Given the description of an element on the screen output the (x, y) to click on. 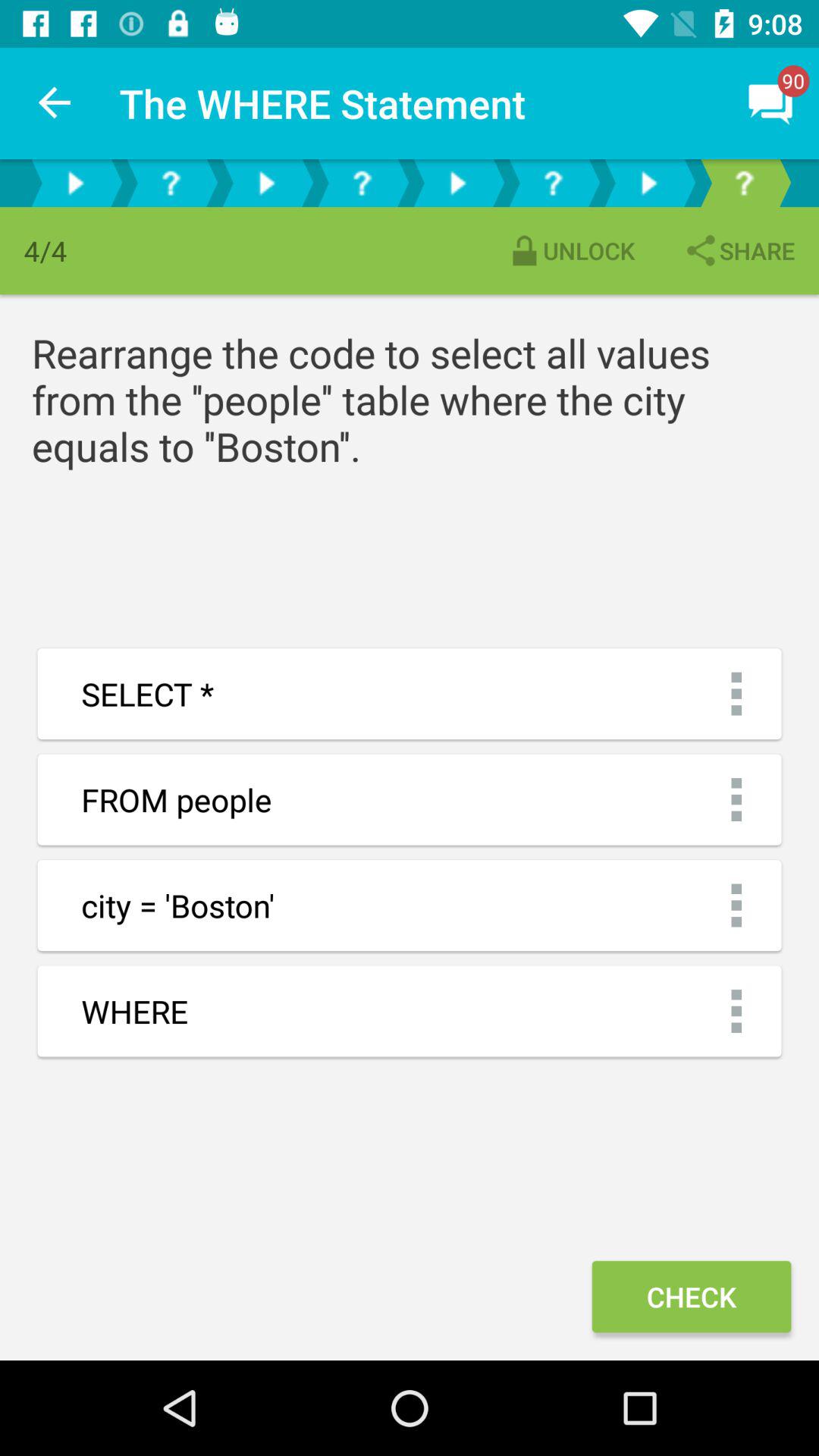
scroll to unlock icon (570, 250)
